Given the description of an element on the screen output the (x, y) to click on. 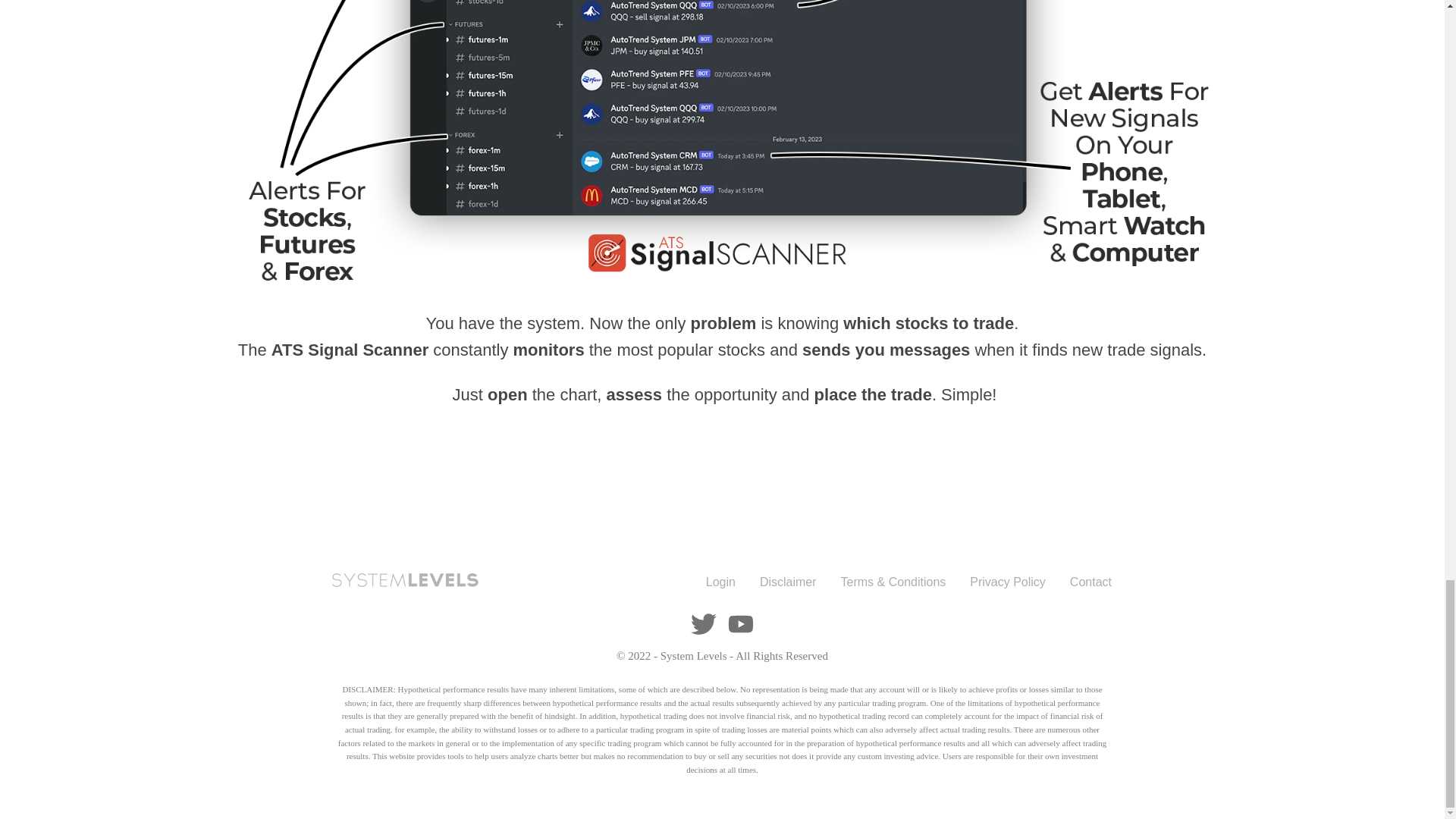
Privacy Policy (1007, 582)
Login (720, 582)
Contact (1091, 582)
Disclaimer (788, 582)
